Given the description of an element on the screen output the (x, y) to click on. 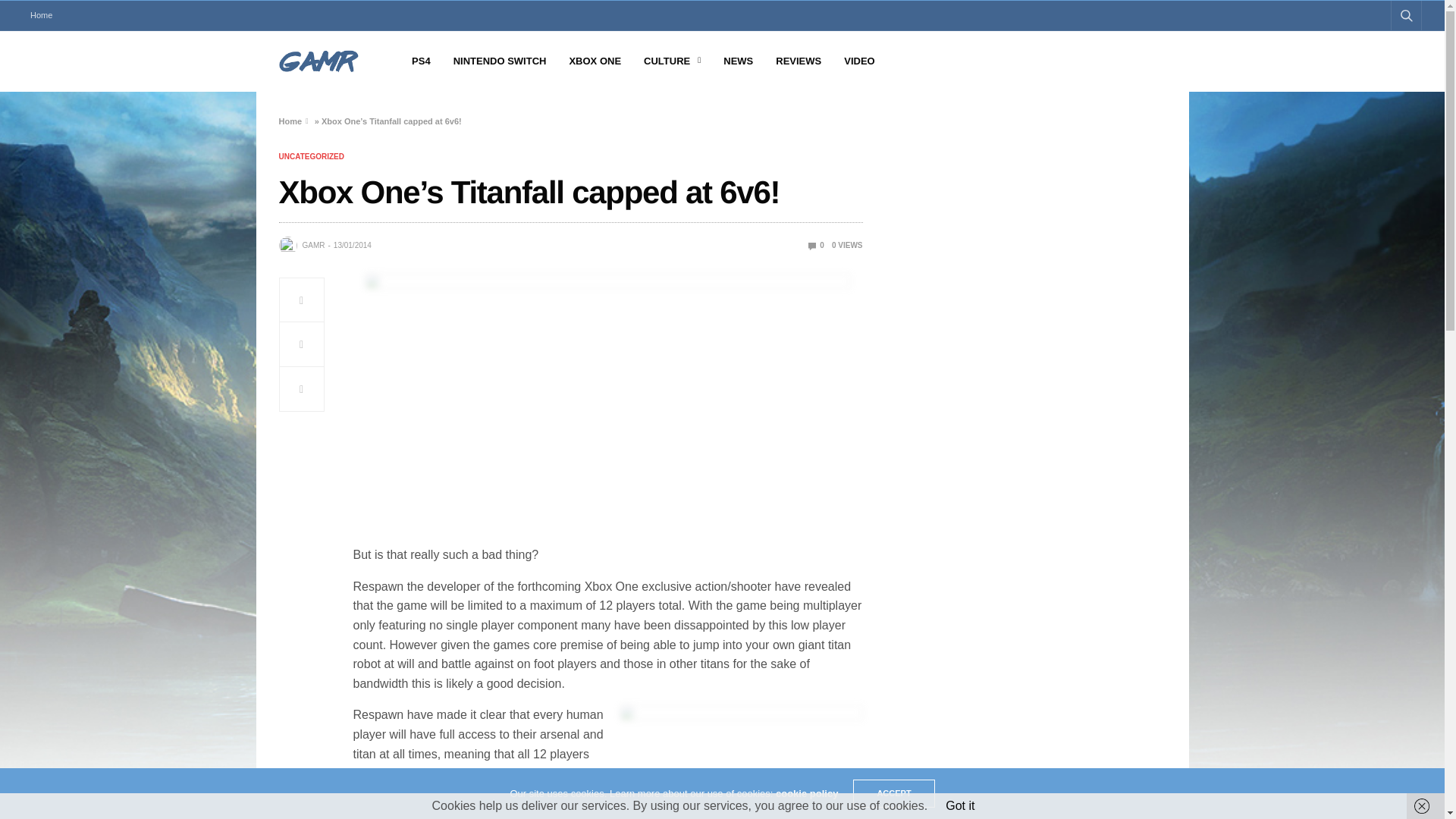
Search (1386, 51)
VIDEO (859, 61)
GAMR (312, 245)
REVIEWS (798, 61)
UNCATEGORIZED (311, 156)
NINTENDO SWITCH (499, 61)
XBOX ONE (595, 61)
Uncategorized (311, 156)
Home (290, 121)
CULTURE (671, 61)
0 (816, 244)
NEWS (737, 61)
Posts by GAMR (312, 245)
PS4 (421, 61)
Home (41, 15)
